Given the description of an element on the screen output the (x, y) to click on. 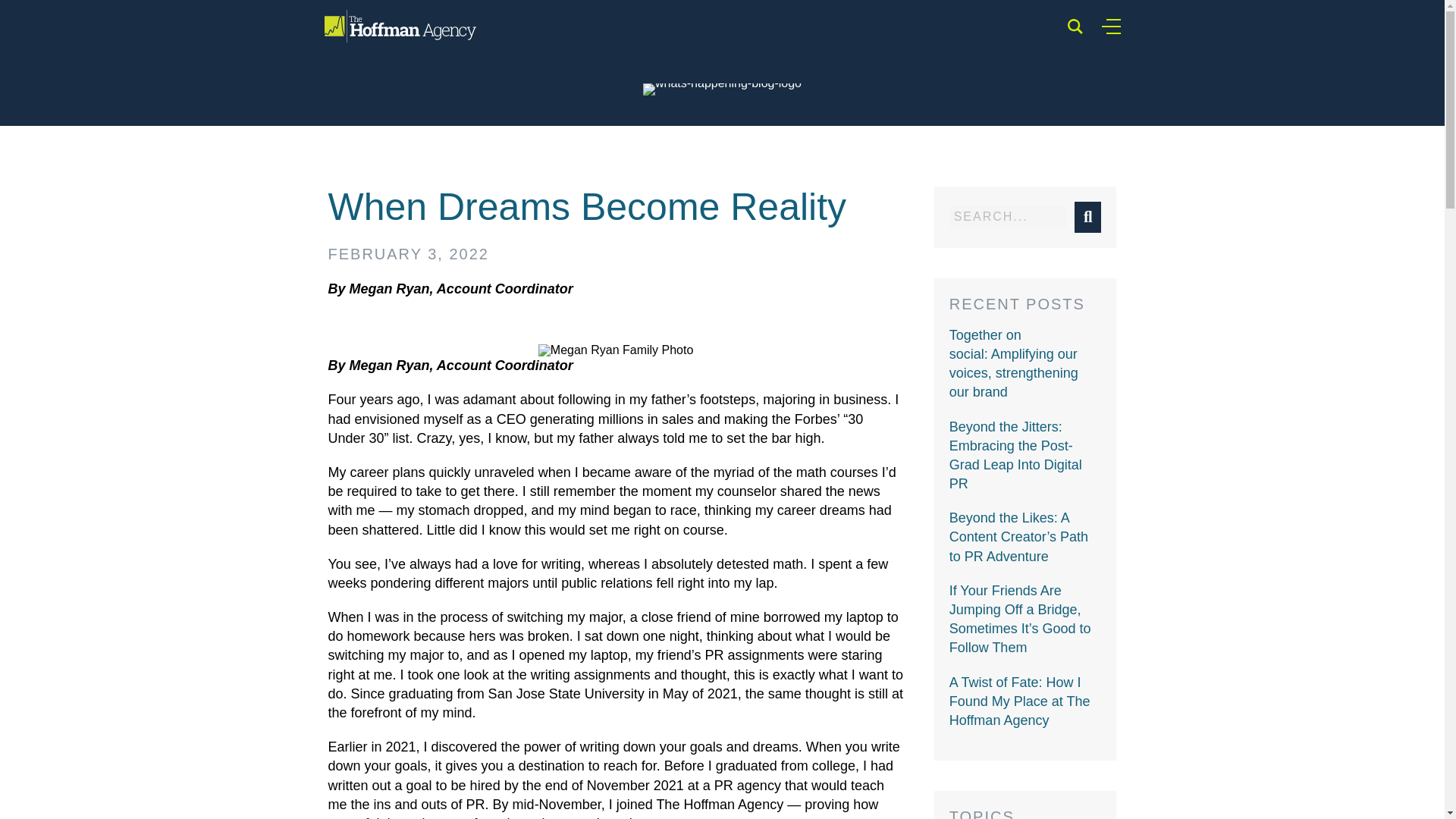
Tap to Go Home (400, 25)
Tap to Open Menu (1109, 26)
Open search bar (1075, 26)
whats-happening-blog-logo (722, 89)
Megan Ryan Family Photo (616, 349)
